Given the description of an element on the screen output the (x, y) to click on. 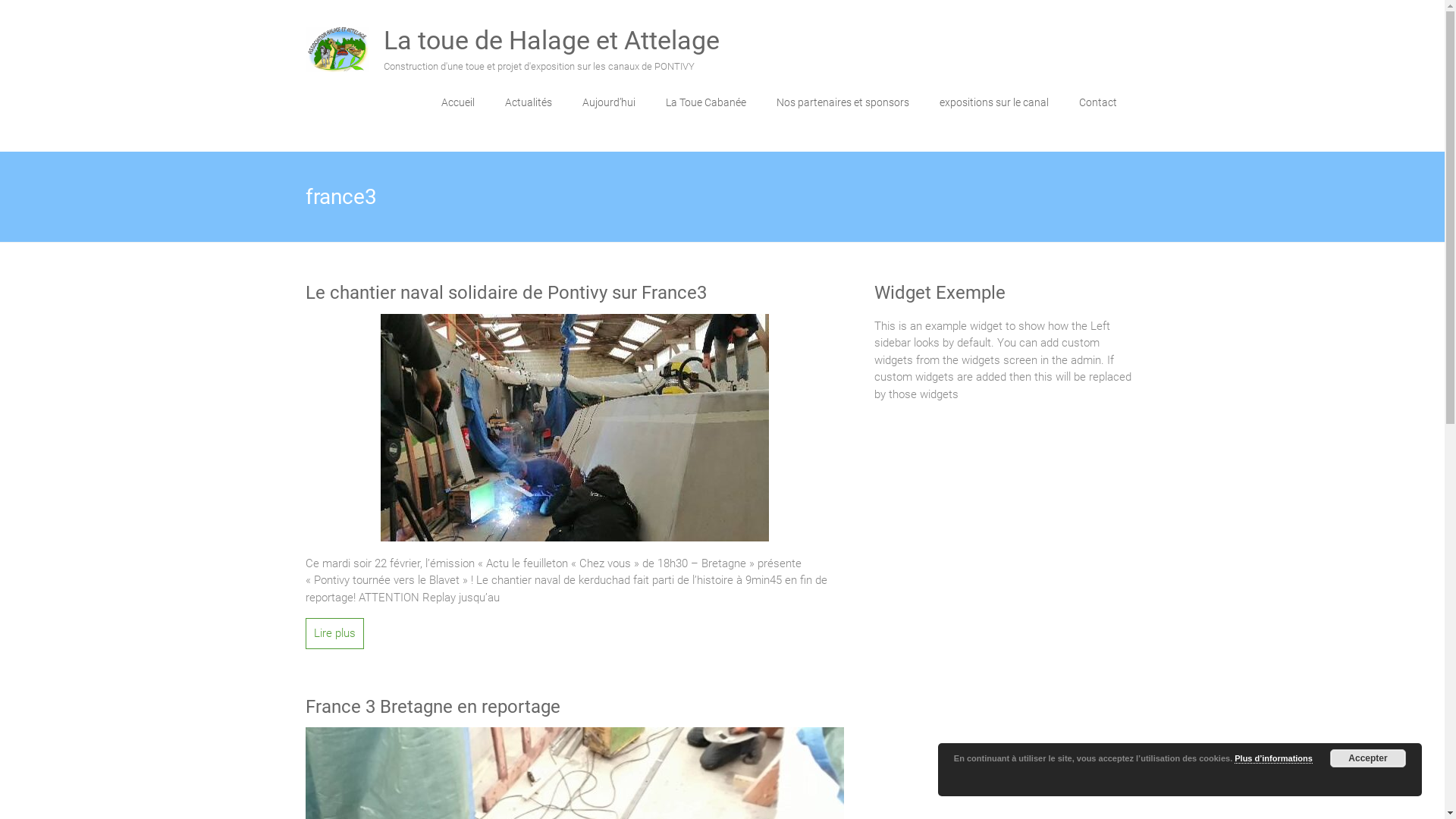
expositions sur le canal Element type: text (993, 101)
France 3 Bretagne en reportage Element type: hover (573, 735)
Le chantier naval solidaire de Pontivy sur France3 Element type: hover (574, 427)
Le chantier naval solidaire de Pontivy sur France3 Element type: hover (574, 322)
La toue de Halage et Attelage Element type: text (551, 40)
Contact Element type: text (1097, 101)
France 3 Bretagne en reportage Element type: text (573, 707)
Accepter Element type: text (1367, 758)
Nos partenaires et sponsors Element type: text (842, 101)
La toue de Halage et Attelage Element type: hover (336, 34)
Accueil Element type: text (457, 101)
Lire plus Element type: text (333, 633)
Le chantier naval solidaire de Pontivy sur France3 Element type: text (573, 293)
